Given the description of an element on the screen output the (x, y) to click on. 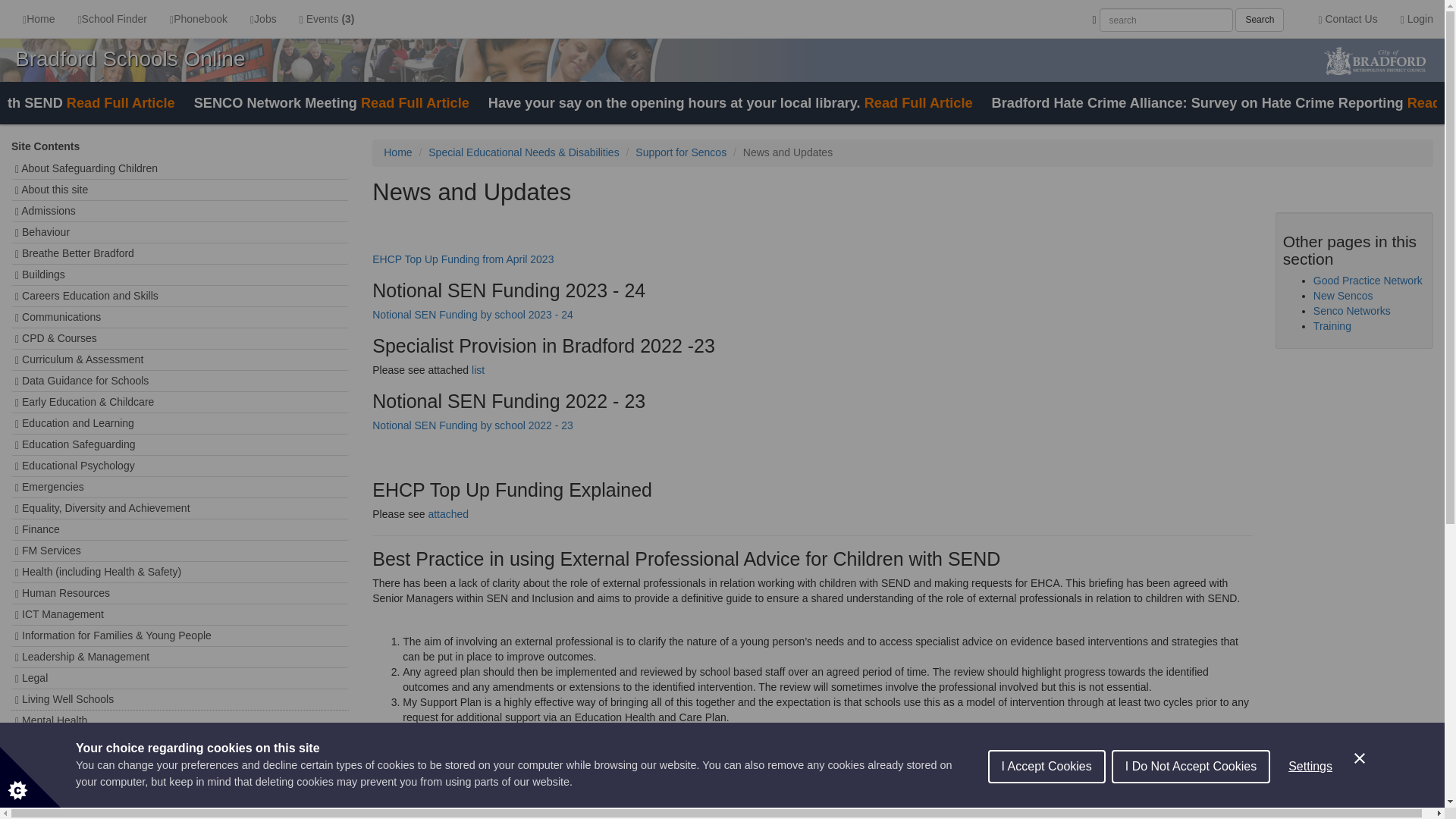
I Accept Cookies (1046, 805)
Search (1259, 19)
Read Full Article (918, 102)
I Do Not Accept Cookies (1190, 791)
Slide Item (92, 106)
Login (1416, 18)
Phonebook (198, 18)
Slide Content (92, 103)
School Finder (111, 18)
Jobs (263, 18)
Bradford Schools Online (130, 58)
Search (1259, 19)
Contact Us (1347, 18)
Read Full Article (120, 102)
Search (1259, 19)
